Given the description of an element on the screen output the (x, y) to click on. 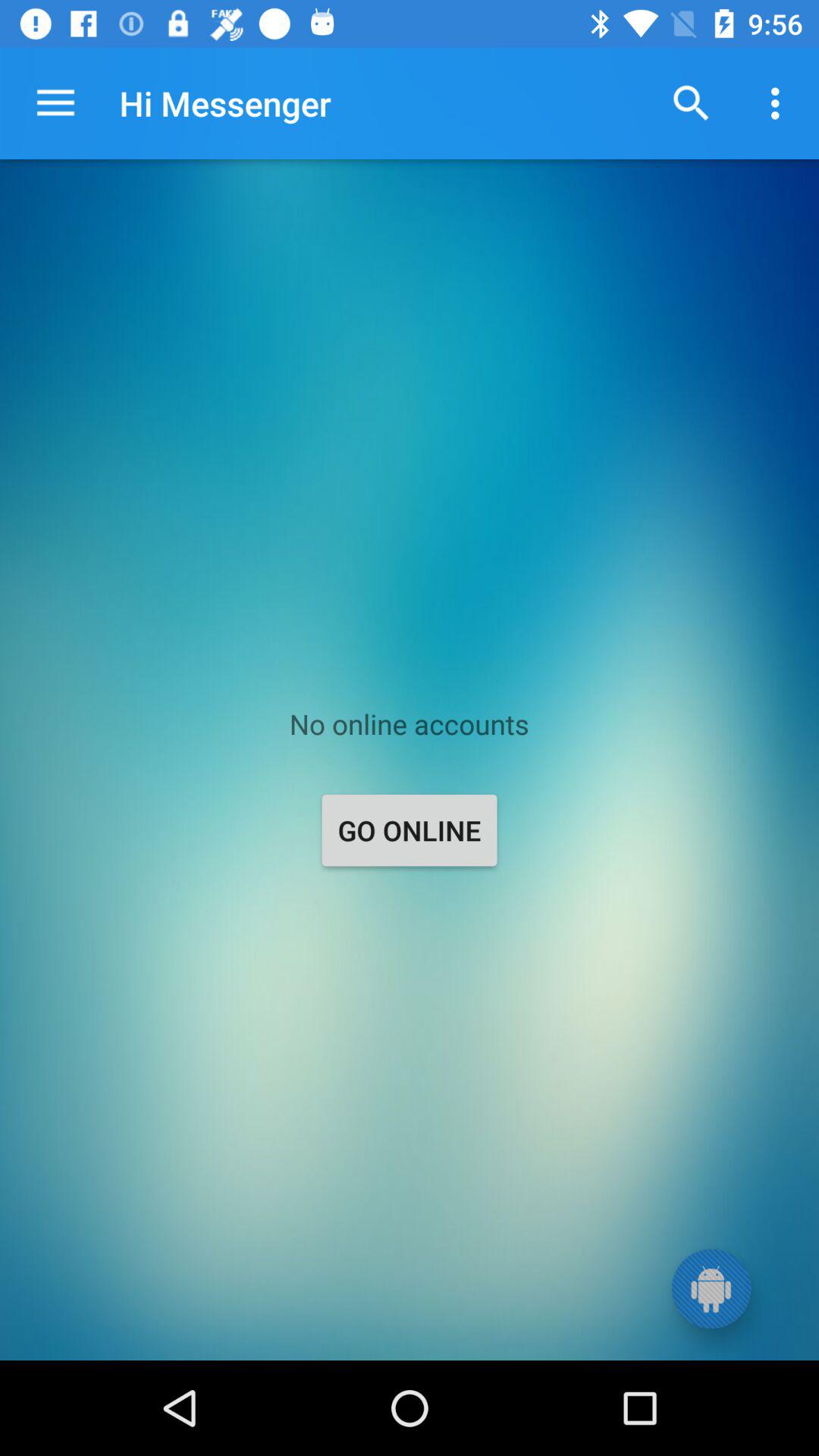
swipe to the go online icon (409, 830)
